Given the description of an element on the screen output the (x, y) to click on. 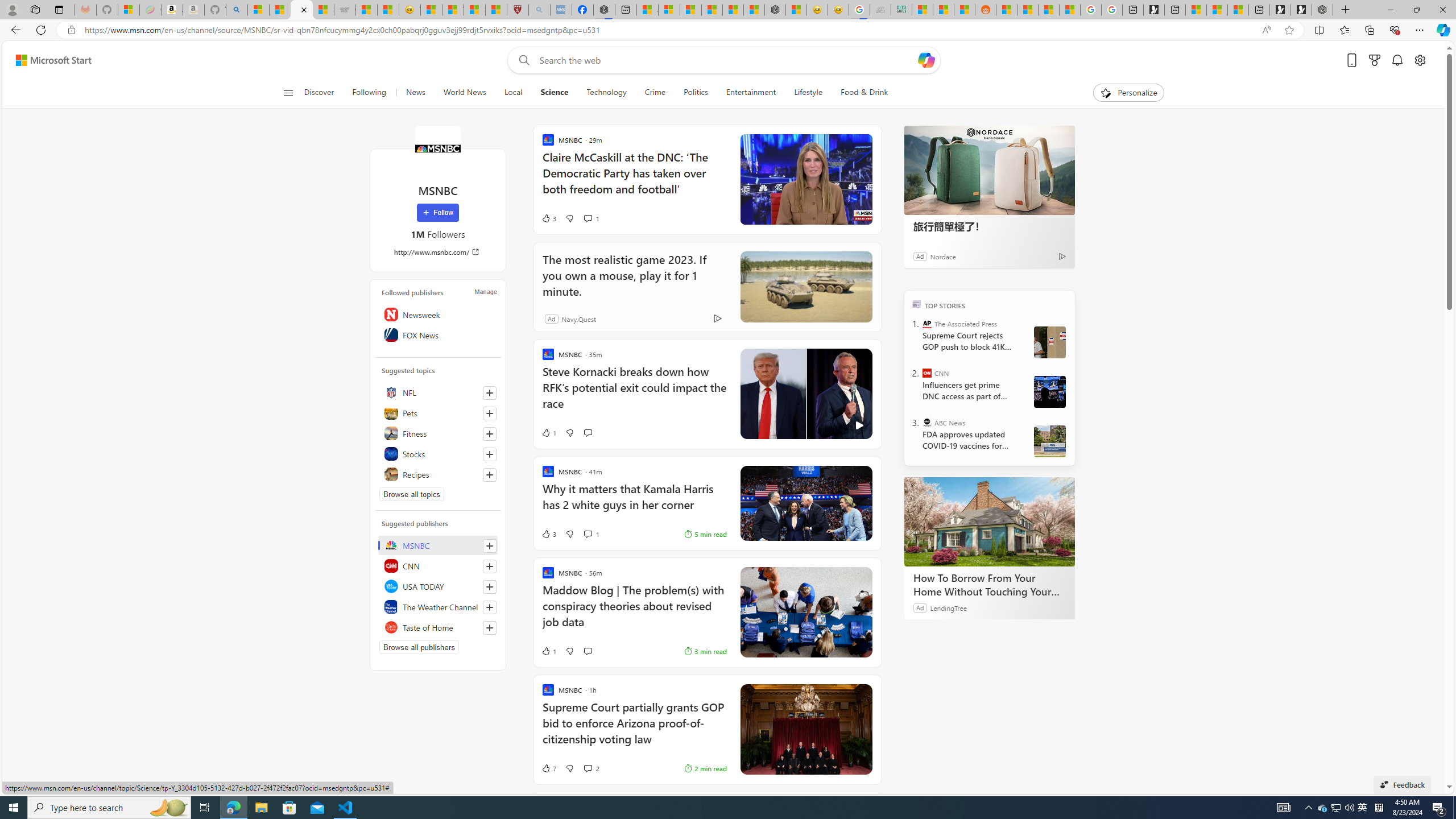
Dislike (569, 768)
USA TODAY (437, 586)
Manage (485, 291)
Class: hero-image (805, 393)
LendingTree (948, 607)
list of asthma inhalers uk - Search - Sleeping (539, 9)
Enter your search term (726, 59)
Skip to content (49, 59)
